Given the description of an element on the screen output the (x, y) to click on. 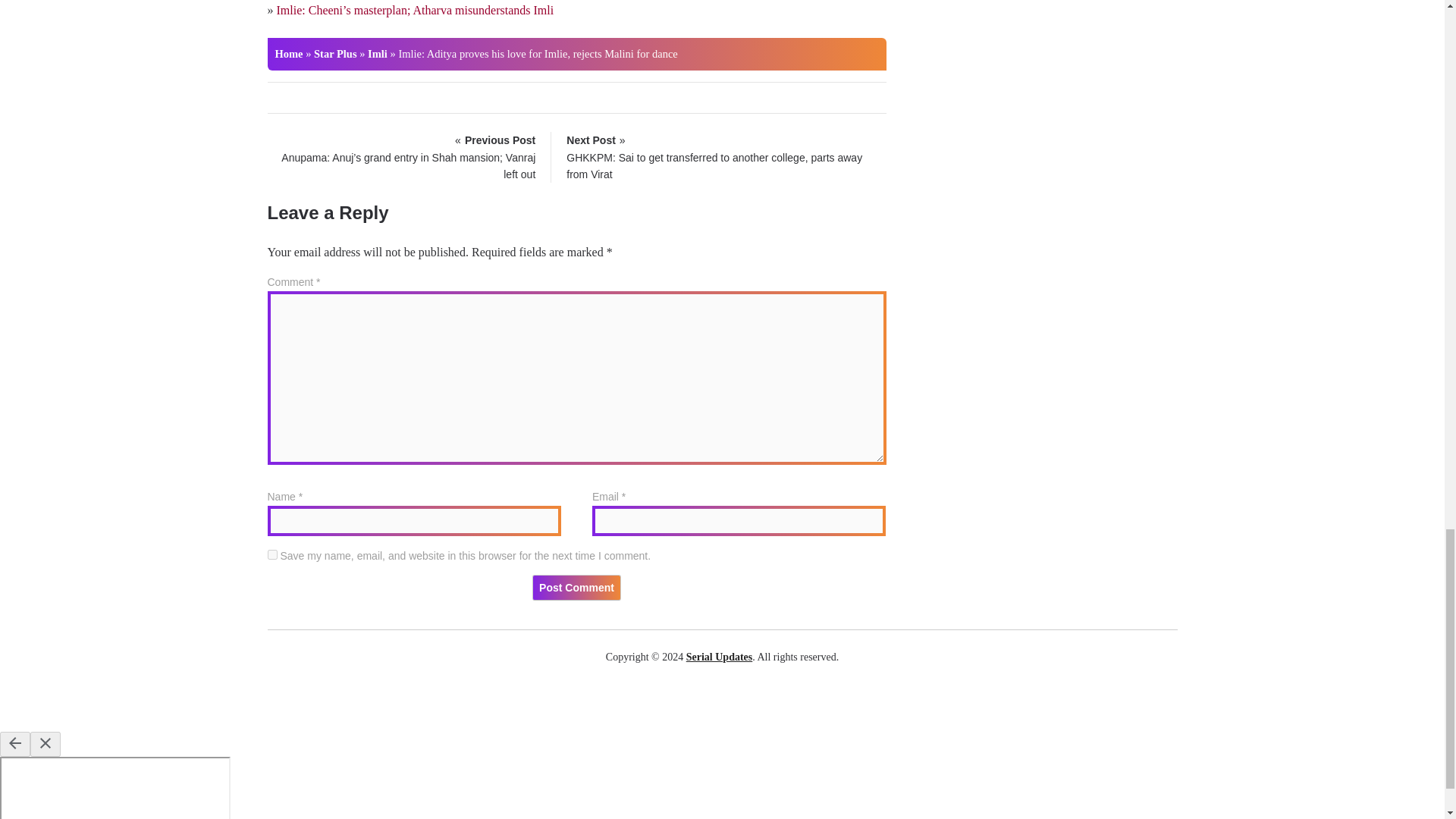
yes (271, 554)
Imli (377, 53)
Post Comment (576, 587)
Home (288, 53)
DMCA.com Protection Status (721, 703)
Star Plus (335, 53)
Post Comment (576, 587)
Serial Updates (718, 656)
